Given the description of an element on the screen output the (x, y) to click on. 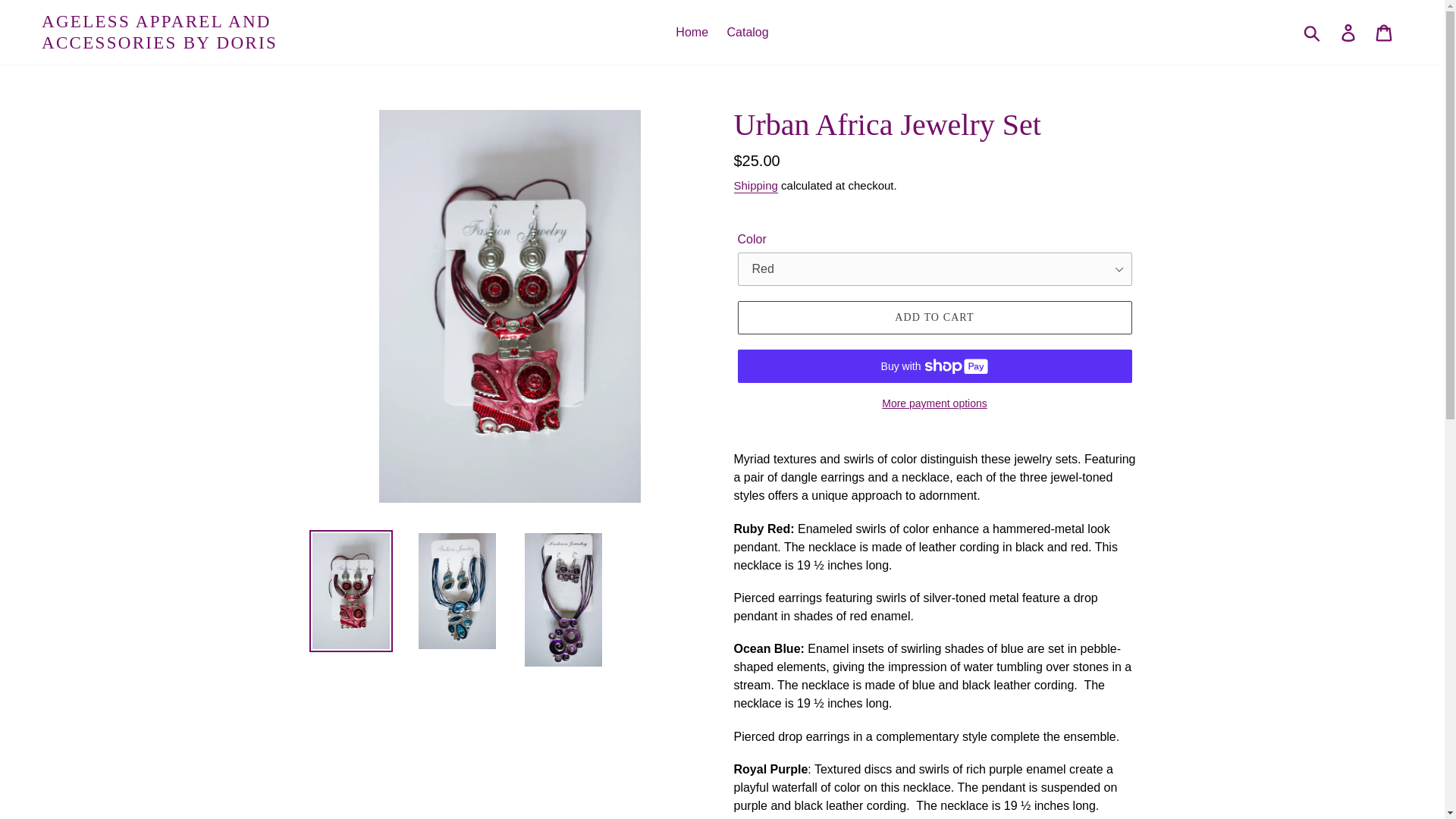
Shipping (755, 186)
Cart (1385, 31)
Catalog (747, 32)
Log in (1349, 31)
Home (692, 32)
More payment options (933, 403)
ADD TO CART (933, 317)
Submit (1313, 32)
AGELESS APPAREL AND ACCESSORIES BY DORIS (211, 32)
